Given the description of an element on the screen output the (x, y) to click on. 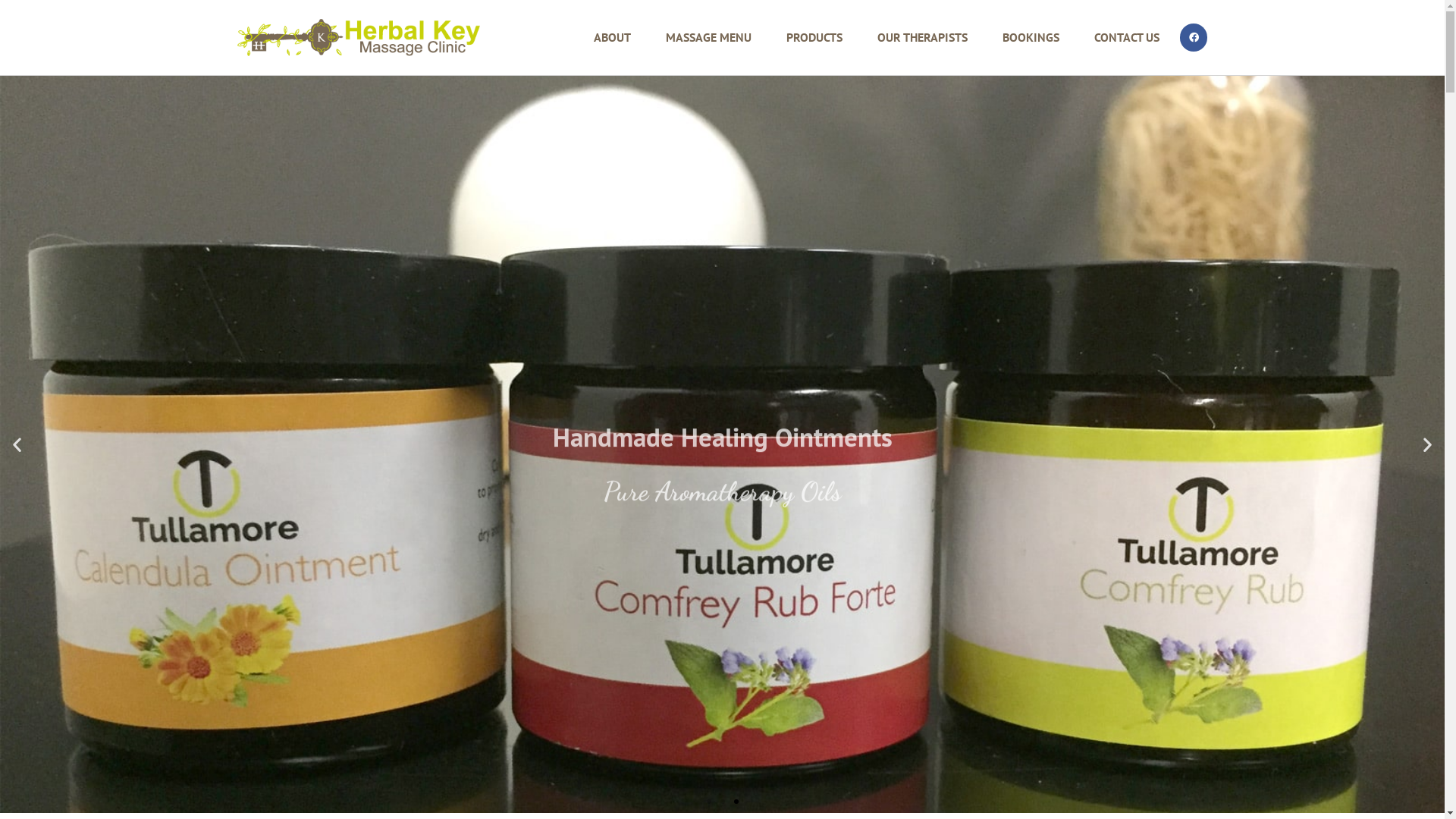
BOOKINGS Element type: text (1030, 37)
OUR THERAPISTS Element type: text (921, 37)
PRODUCTS Element type: text (813, 37)
ABOUT Element type: text (611, 37)
MASSAGE MENU Element type: text (708, 37)
CONTACT US Element type: text (1125, 37)
